Given the description of an element on the screen output the (x, y) to click on. 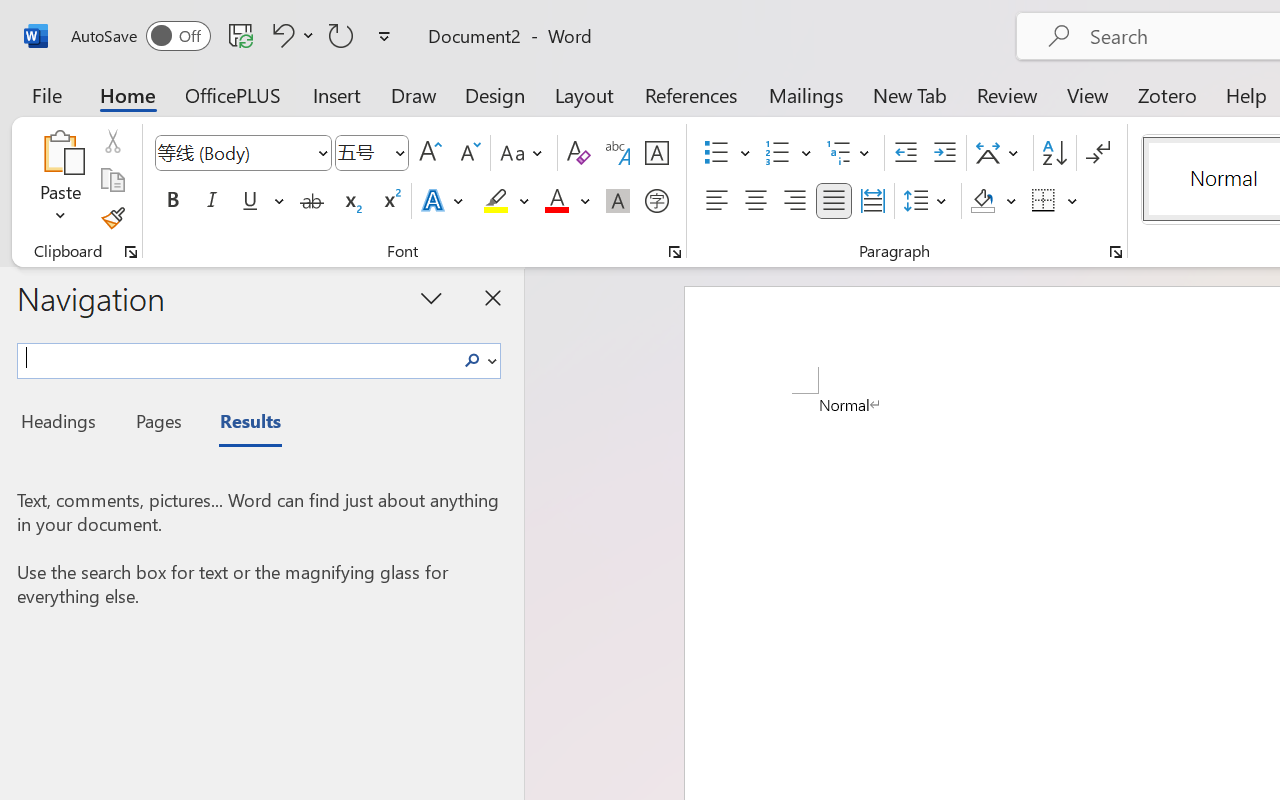
Paste (60, 151)
References (690, 94)
Underline (250, 201)
Bullets (716, 153)
Mailings (806, 94)
Task Pane Options (431, 297)
Sort... (1054, 153)
Search (471, 360)
Font Size (372, 153)
AutoSave (140, 35)
Bold (172, 201)
Draw (413, 94)
Shrink Font (468, 153)
Underline (261, 201)
Change Case (524, 153)
